Given the description of an element on the screen output the (x, y) to click on. 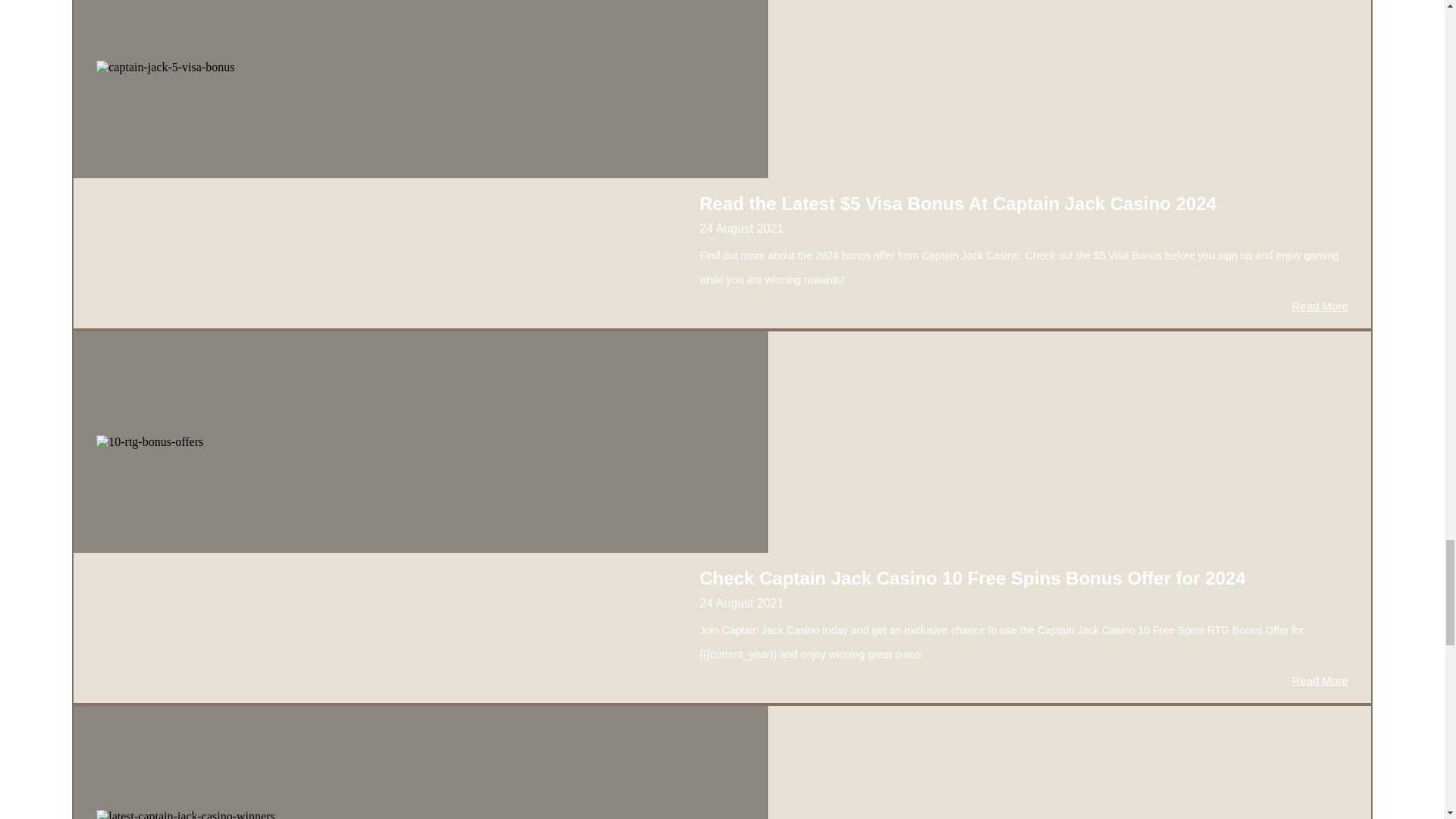
Read More (1320, 305)
Read More (1320, 680)
Check Captain Jack Casino 10 Free Spins Bonus Offer for 2024 (971, 578)
